Given the description of an element on the screen output the (x, y) to click on. 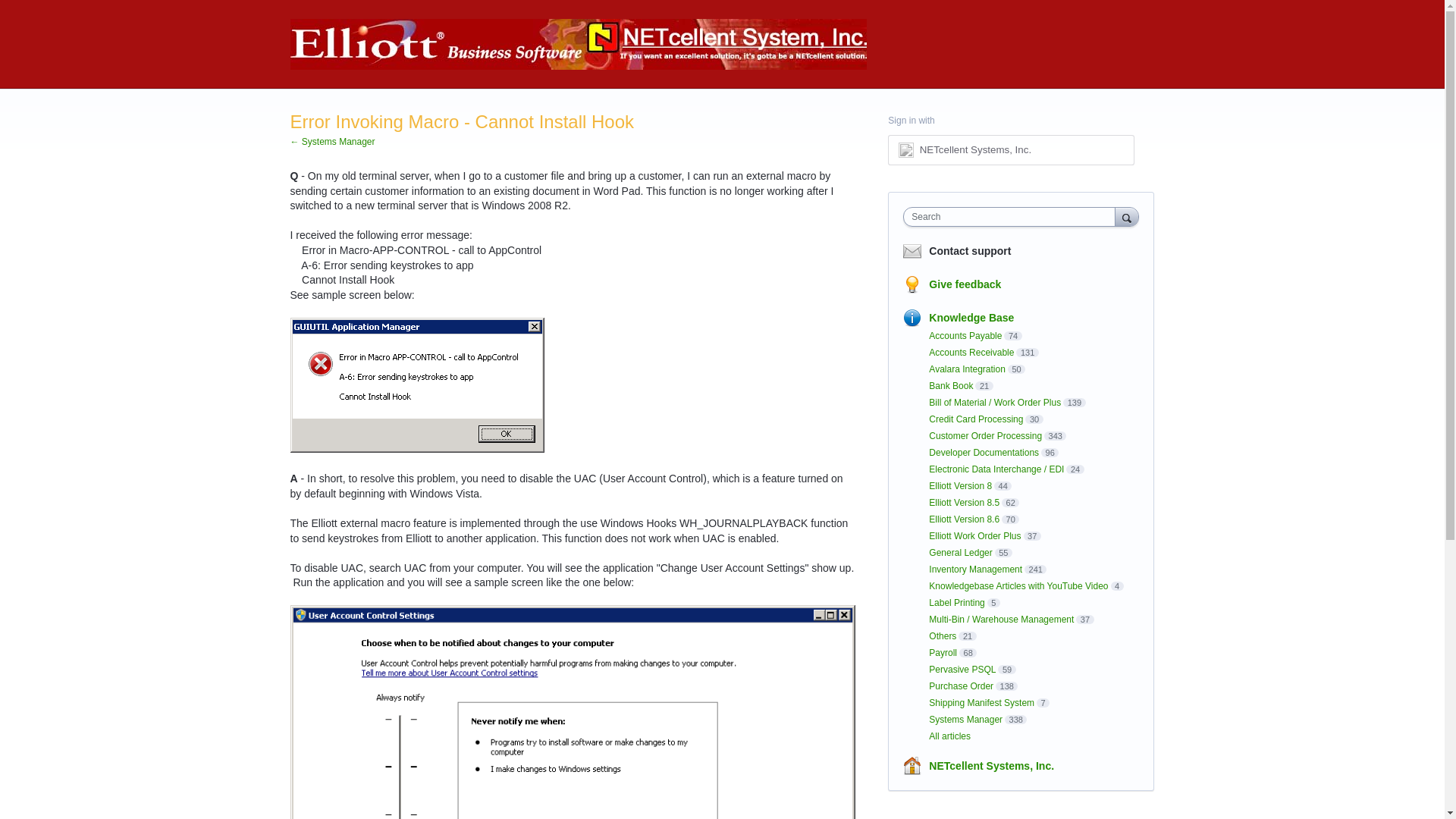
View all articles in Developer Documentations (983, 452)
Elliott Version 8.6 (963, 519)
View all articles in Customer Order Processing (985, 435)
View all articles in Elliott Work Order Plus (974, 535)
View all articles in Elliott Version 8 (959, 485)
View all articles in General Ledger (959, 552)
NETcellent Systems, Inc. sign in (1011, 150)
Contact support (969, 250)
Purchase Order (960, 685)
Payroll (942, 652)
Knowledgebase Articles with YouTube Video (1018, 585)
Elliott Version 8.5 (963, 502)
Knowledge Base (970, 317)
Avalara Integration (967, 368)
Shipping Manifest System (980, 702)
